Given the description of an element on the screen output the (x, y) to click on. 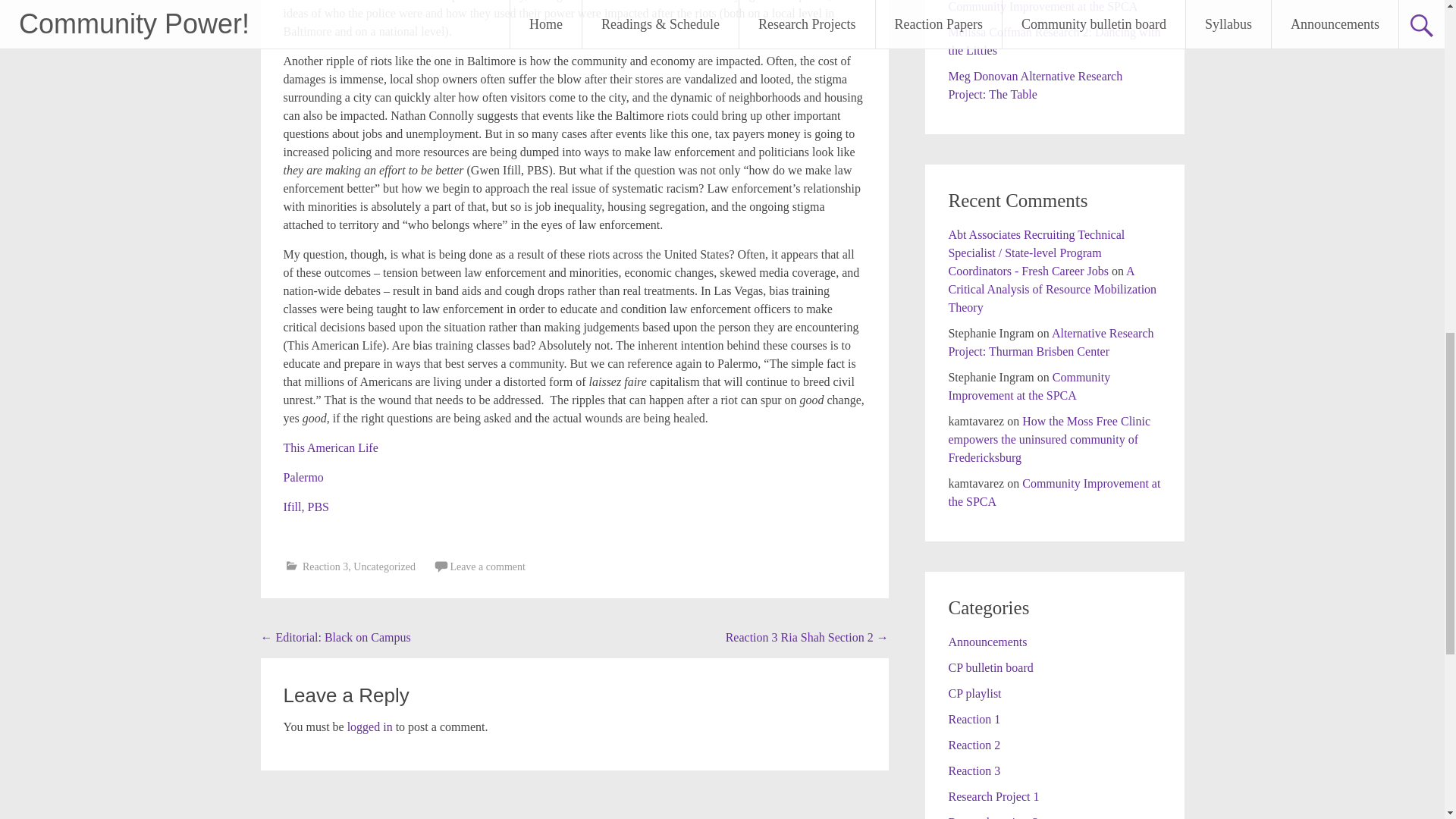
A Critical Analysis of Resource Mobilization Theory (1051, 288)
Community Improvement at the SPCA (1042, 6)
Uncategorized (383, 566)
Alternative Research Project: Thurman Brisben Center (1050, 341)
Melissa Coffman Research 2: Dancing with the Littles (1053, 40)
Community Improvement at the SPCA (1028, 386)
Meg Donovan Alternative Research Project: The Table (1034, 84)
Leave a comment (487, 566)
This American Life (330, 447)
Reaction 3 (324, 566)
Palermo (303, 477)
logged in (370, 726)
Ifill, PBS (306, 506)
